Given the description of an element on the screen output the (x, y) to click on. 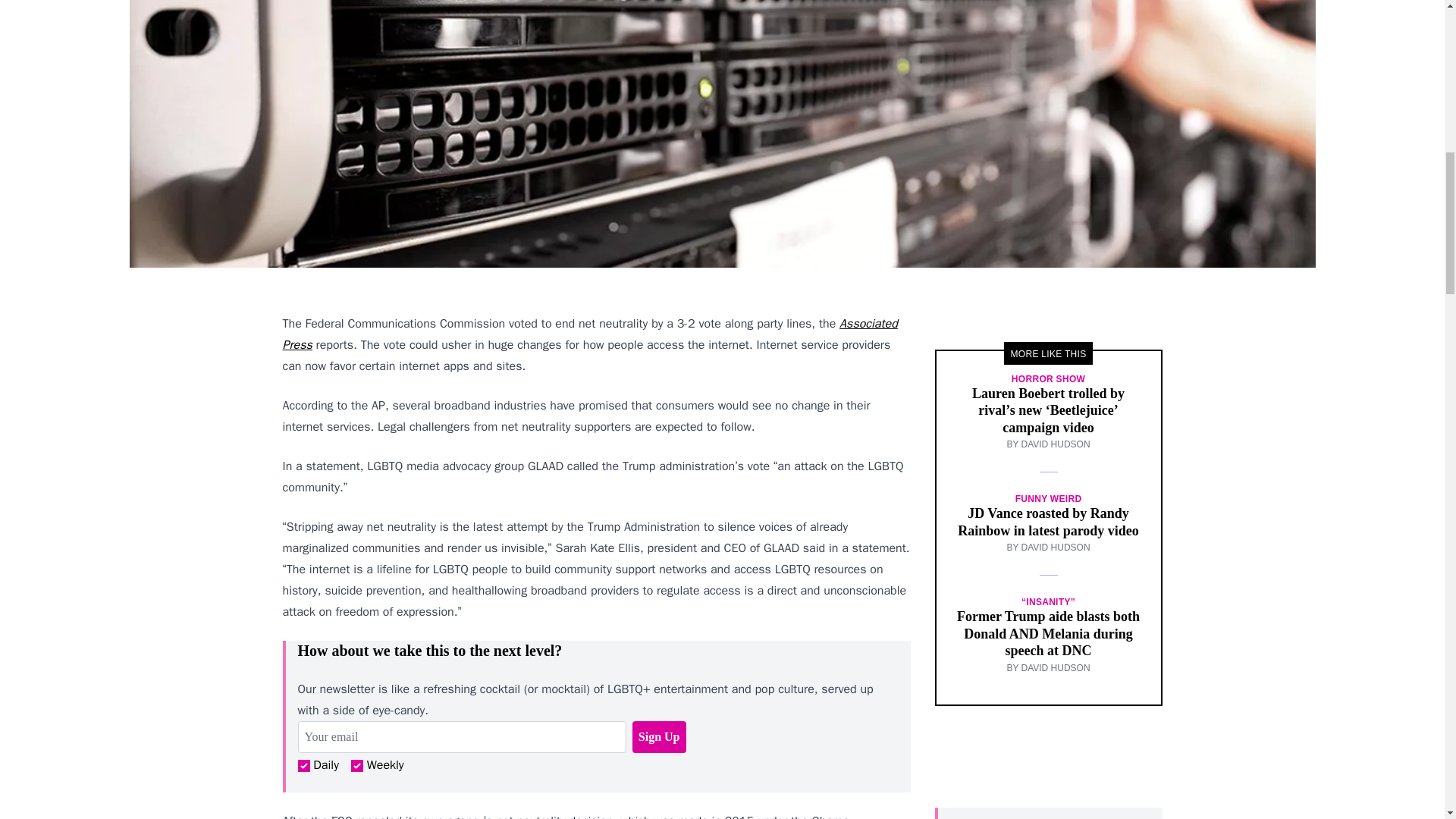
Associated Press (589, 334)
Sign Up (658, 736)
1977099 (356, 766)
1924751 (302, 766)
Sign Up (658, 736)
